Given the description of an element on the screen output the (x, y) to click on. 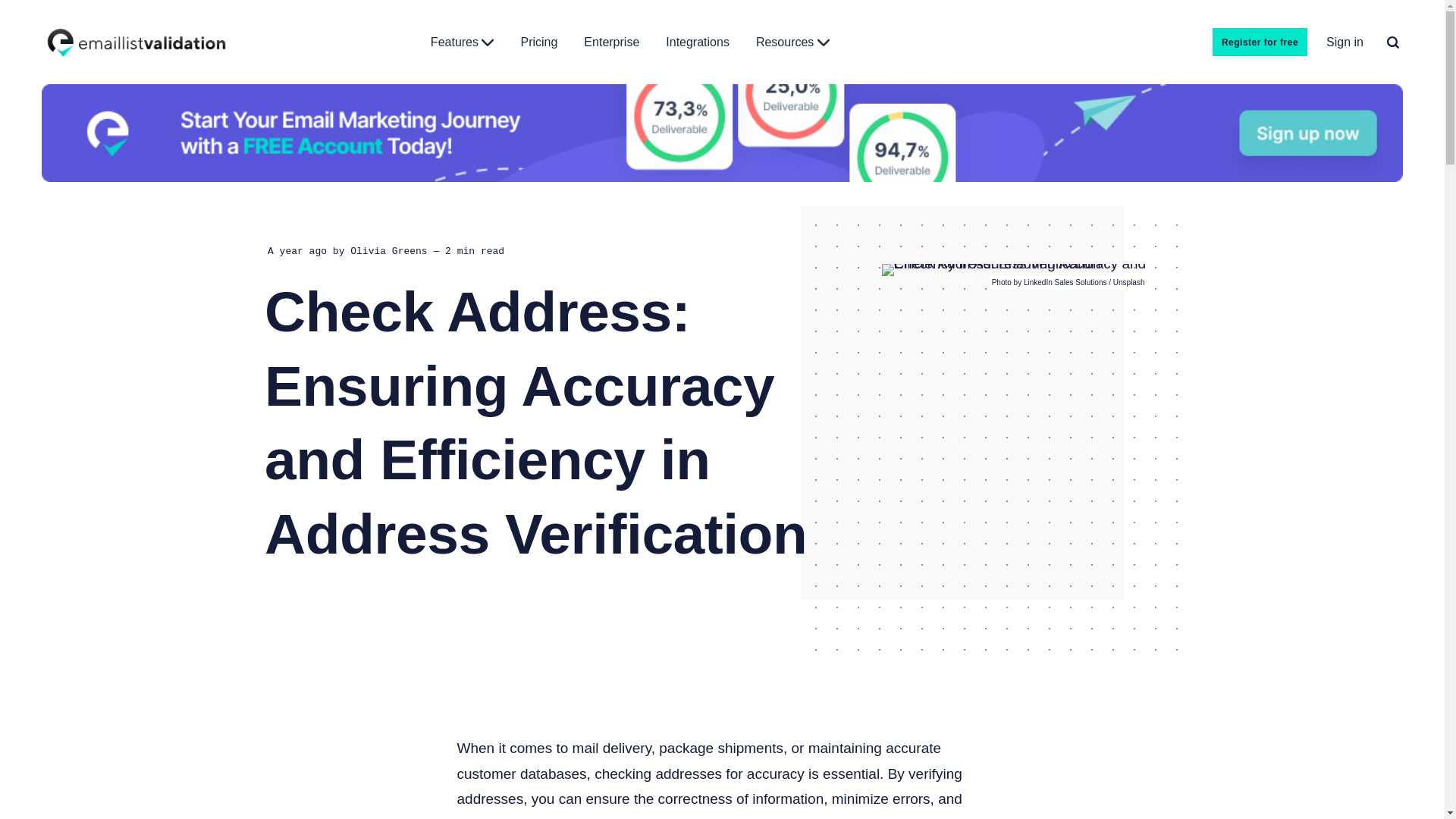
Pricing (538, 41)
Features (462, 41)
LinkedIn Sales Solutions (1064, 282)
Resources (792, 41)
Integrations (697, 41)
Unsplash (1128, 282)
Enterprise (611, 41)
Sign in (1344, 41)
Register for free (1259, 41)
Olivia Greens (388, 250)
